Given the description of an element on the screen output the (x, y) to click on. 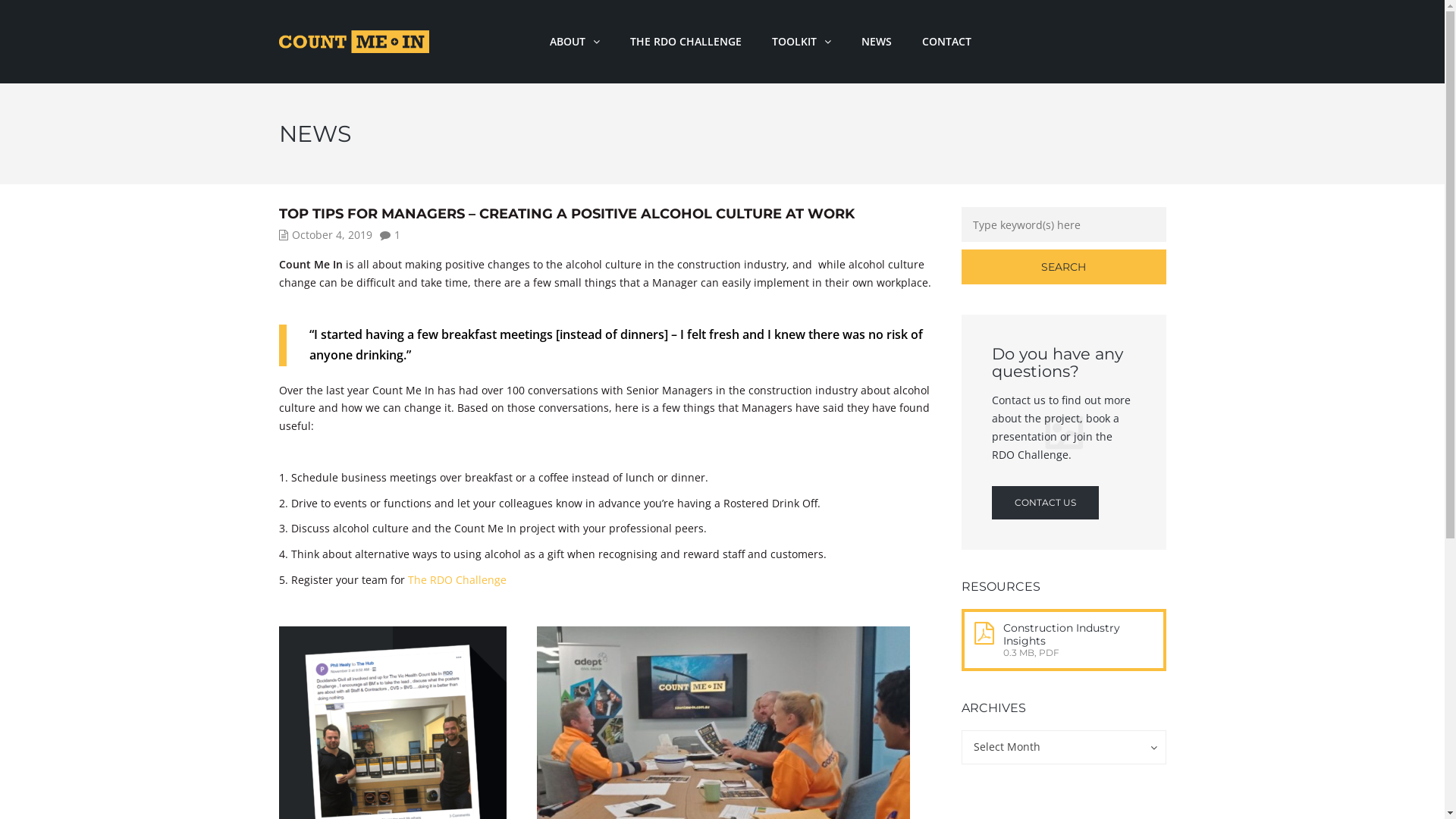
The RDO Challenge Element type: text (456, 579)
Construction Industry Insights Element type: text (1060, 634)
ABOUT Element type: text (574, 41)
TOOLKIT Element type: text (801, 41)
CONTACT Element type: text (946, 41)
Select Month Element type: text (1063, 747)
THE RDO CHALLENGE Element type: text (685, 41)
CONTACT US Element type: text (1044, 502)
NEWS Element type: text (876, 41)
Search Element type: text (1063, 266)
